Given the description of an element on the screen output the (x, y) to click on. 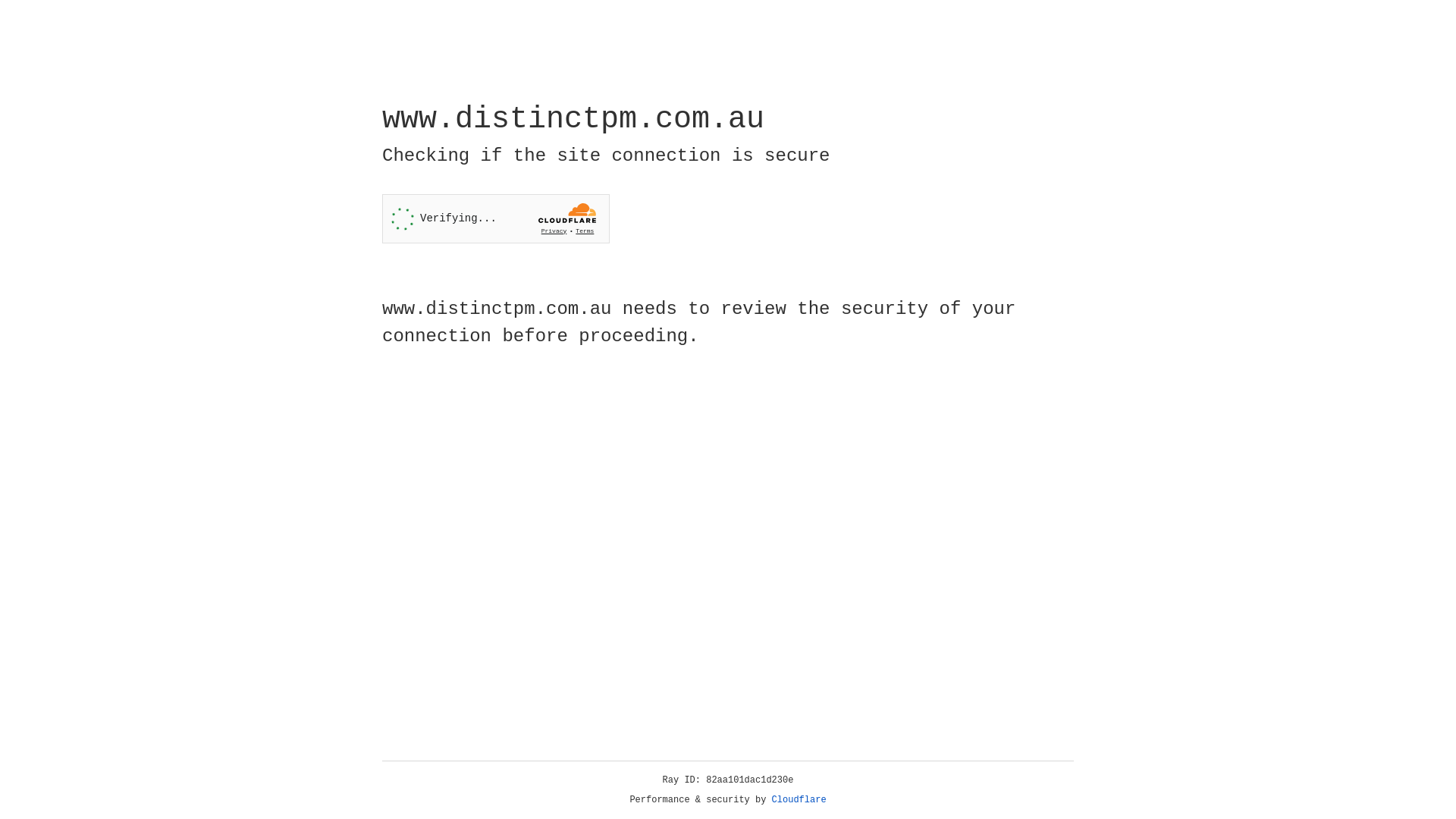
Widget containing a Cloudflare security challenge Element type: hover (495, 218)
Cloudflare Element type: text (798, 799)
